Given the description of an element on the screen output the (x, y) to click on. 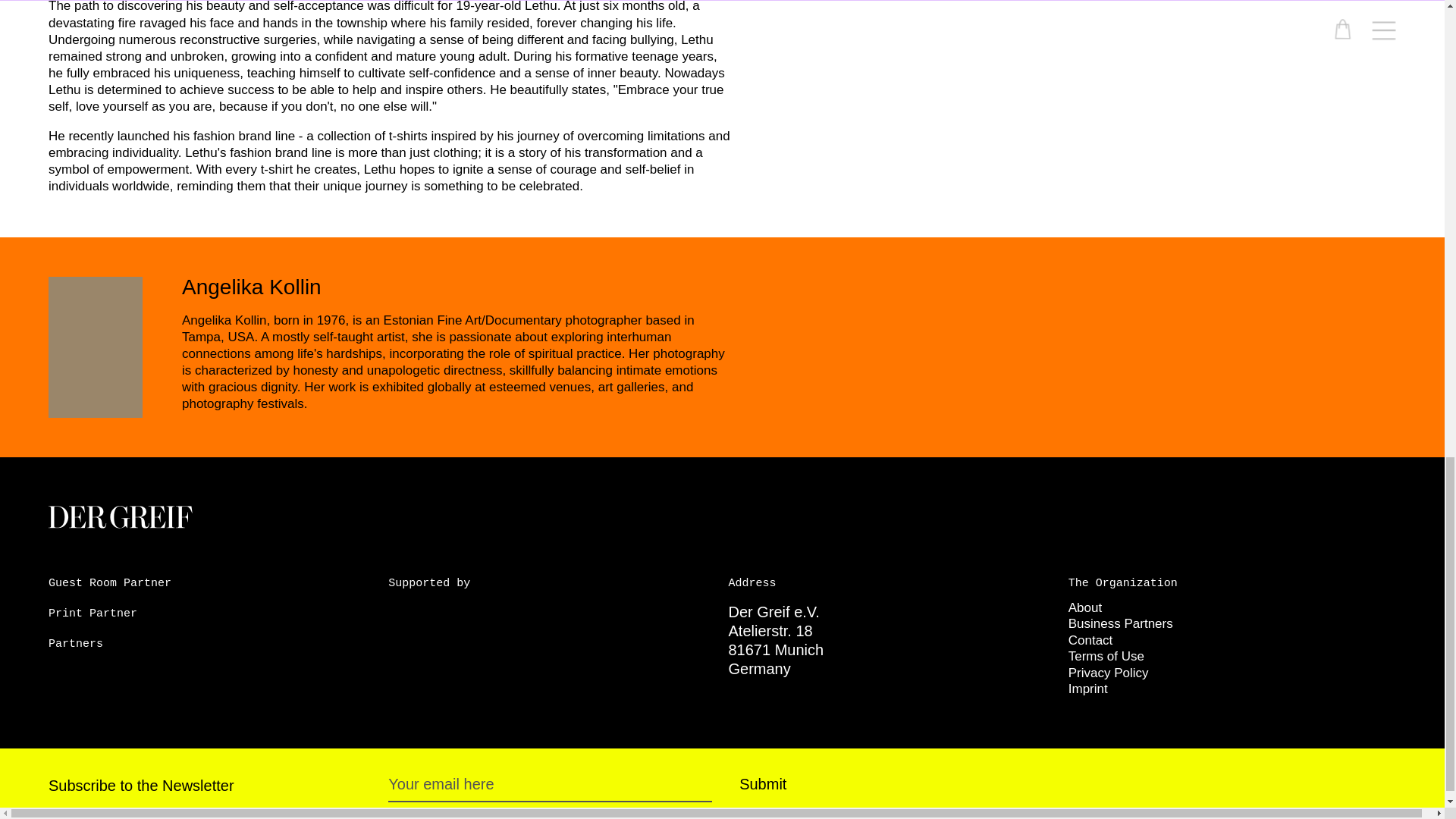
Imprint (1088, 688)
Terms of Use (1106, 656)
Submit (762, 783)
Contact (1090, 640)
About (1085, 607)
Privacy Policy (1108, 672)
Angelika Kollin (251, 286)
Business Partners (1120, 623)
